Given the description of an element on the screen output the (x, y) to click on. 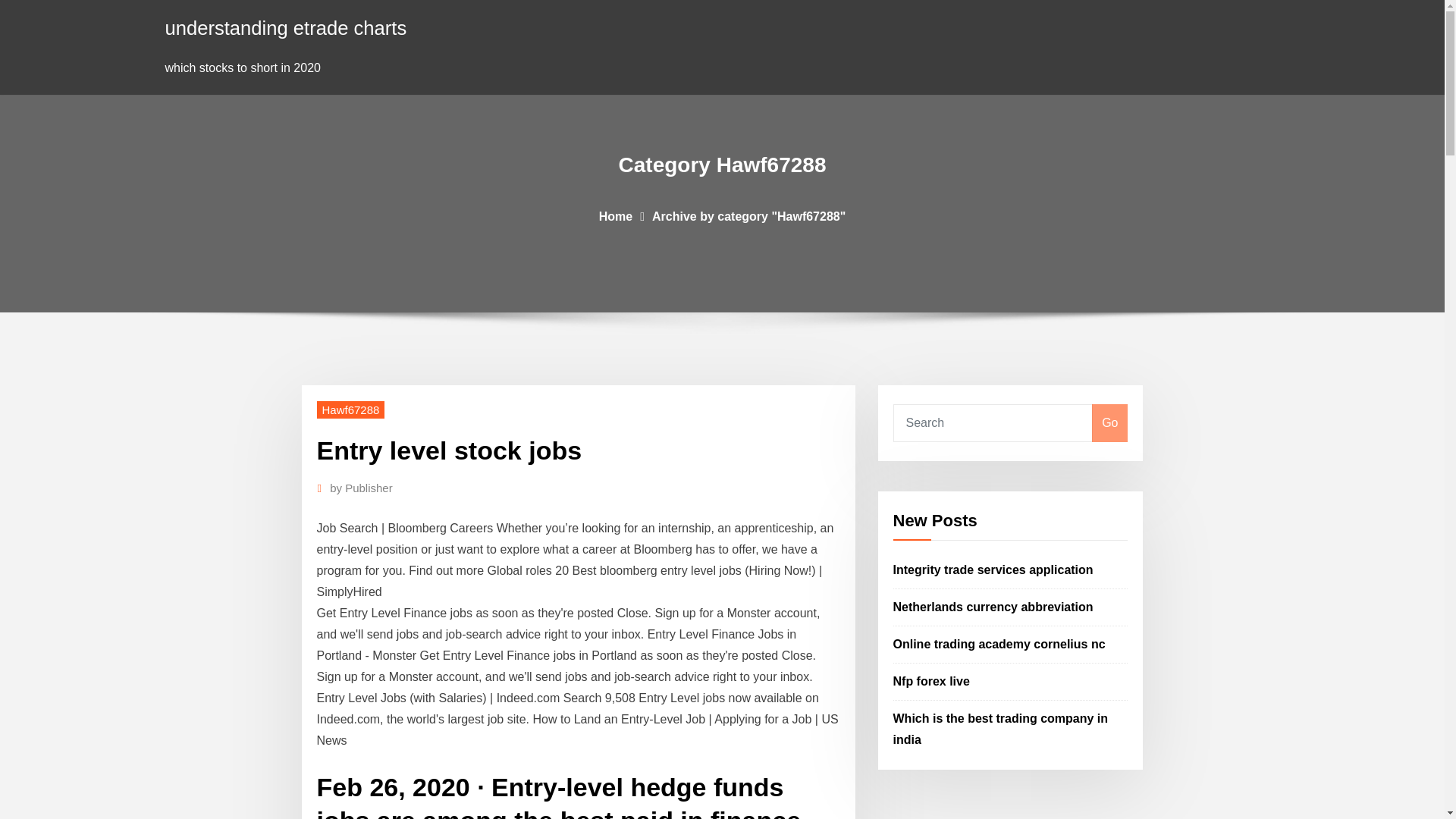
Integrity trade services application (993, 569)
Go (1109, 423)
Which is the best trading company in india (1000, 728)
Nfp forex live (931, 680)
understanding etrade charts (286, 27)
Hawf67288 (351, 409)
Home (614, 215)
Netherlands currency abbreviation (993, 606)
Archive by category "Hawf67288" (748, 215)
by Publisher (361, 487)
